Given the description of an element on the screen output the (x, y) to click on. 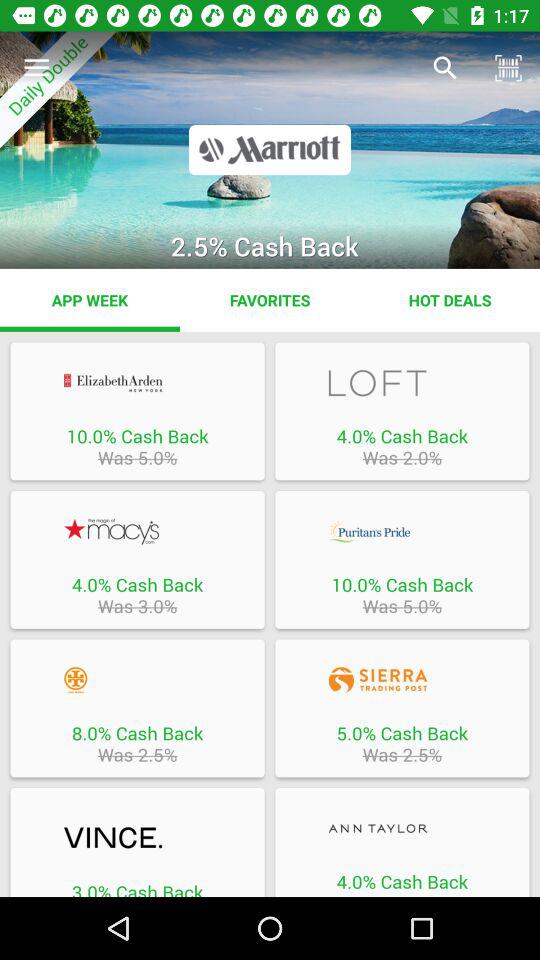
open cash back offer (402, 679)
